Given the description of an element on the screen output the (x, y) to click on. 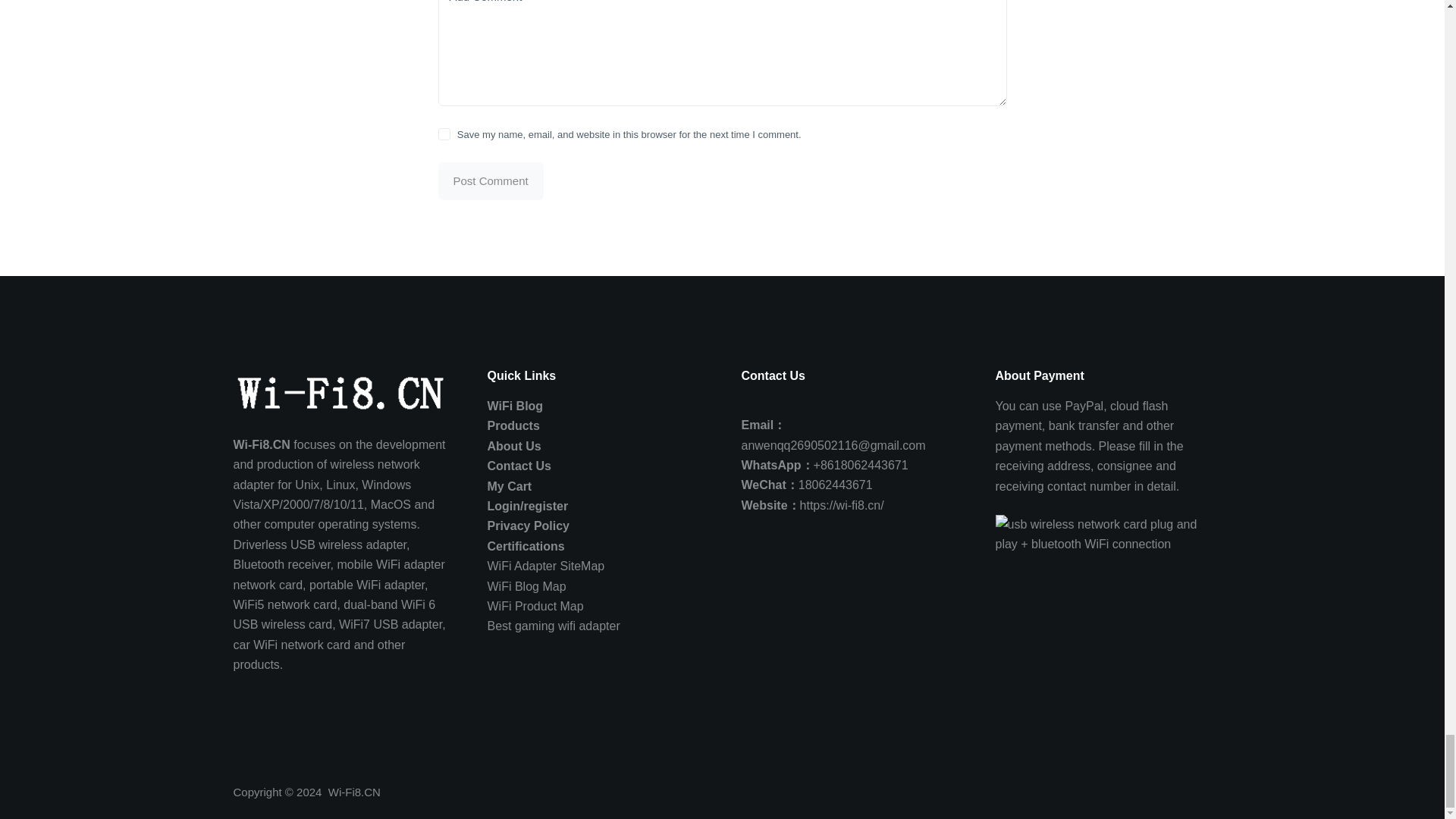
yes (443, 133)
